Given the description of an element on the screen output the (x, y) to click on. 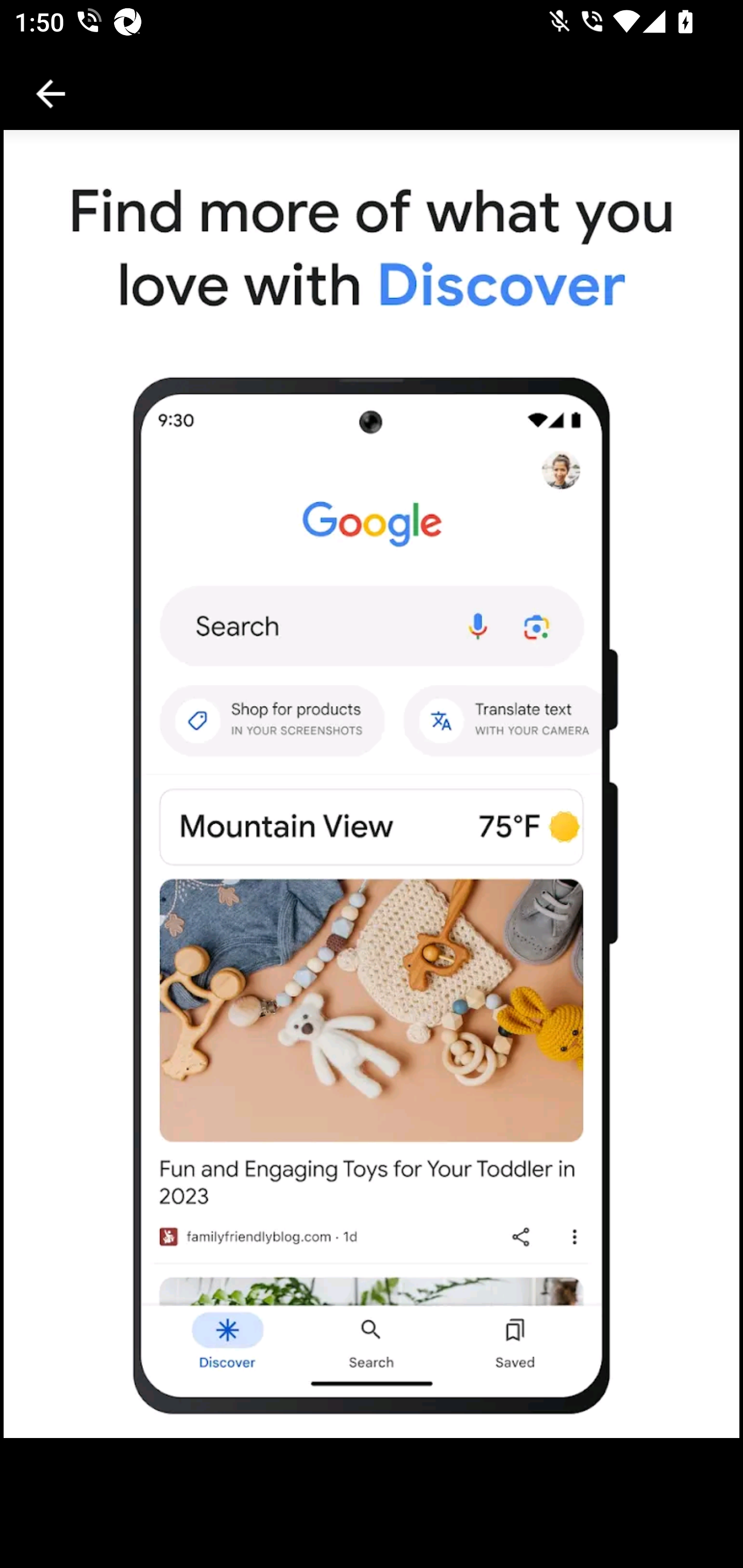
Back (50, 93)
